Given the description of an element on the screen output the (x, y) to click on. 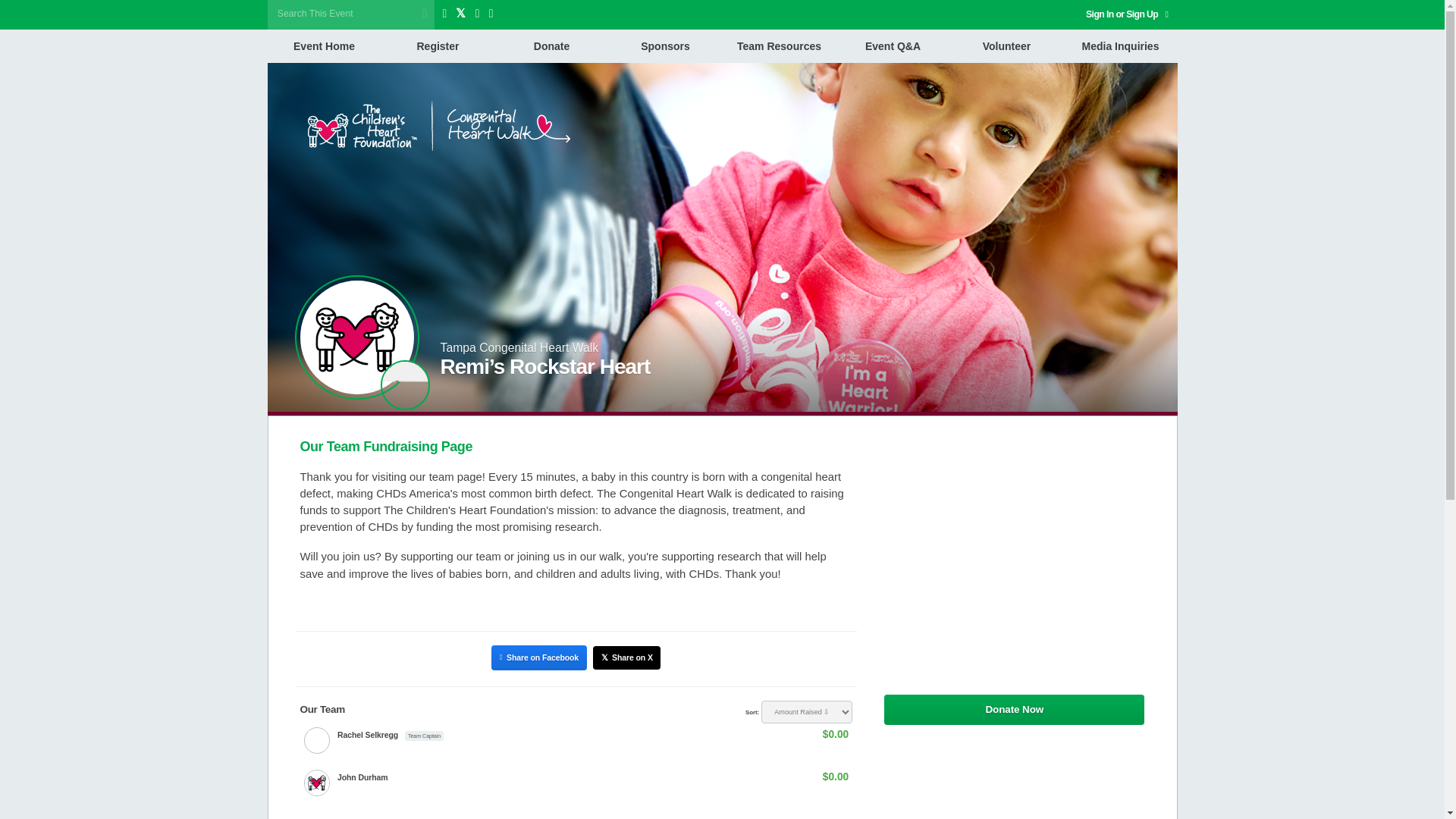
Join My Team (1013, 750)
Event Home: Tampa Congenital Heart Walk  (405, 385)
Volunteer (1005, 45)
Media Inquiries (1119, 45)
Share on X (626, 658)
Share on Facebook (539, 657)
Team Resources (778, 45)
Sign In or Sign Up (1127, 14)
Tampa Congenital Heart Walk (518, 347)
Donate (551, 45)
Register (437, 45)
Sponsors (665, 45)
Donate Now (1013, 709)
Event Home (323, 45)
